Given the description of an element on the screen output the (x, y) to click on. 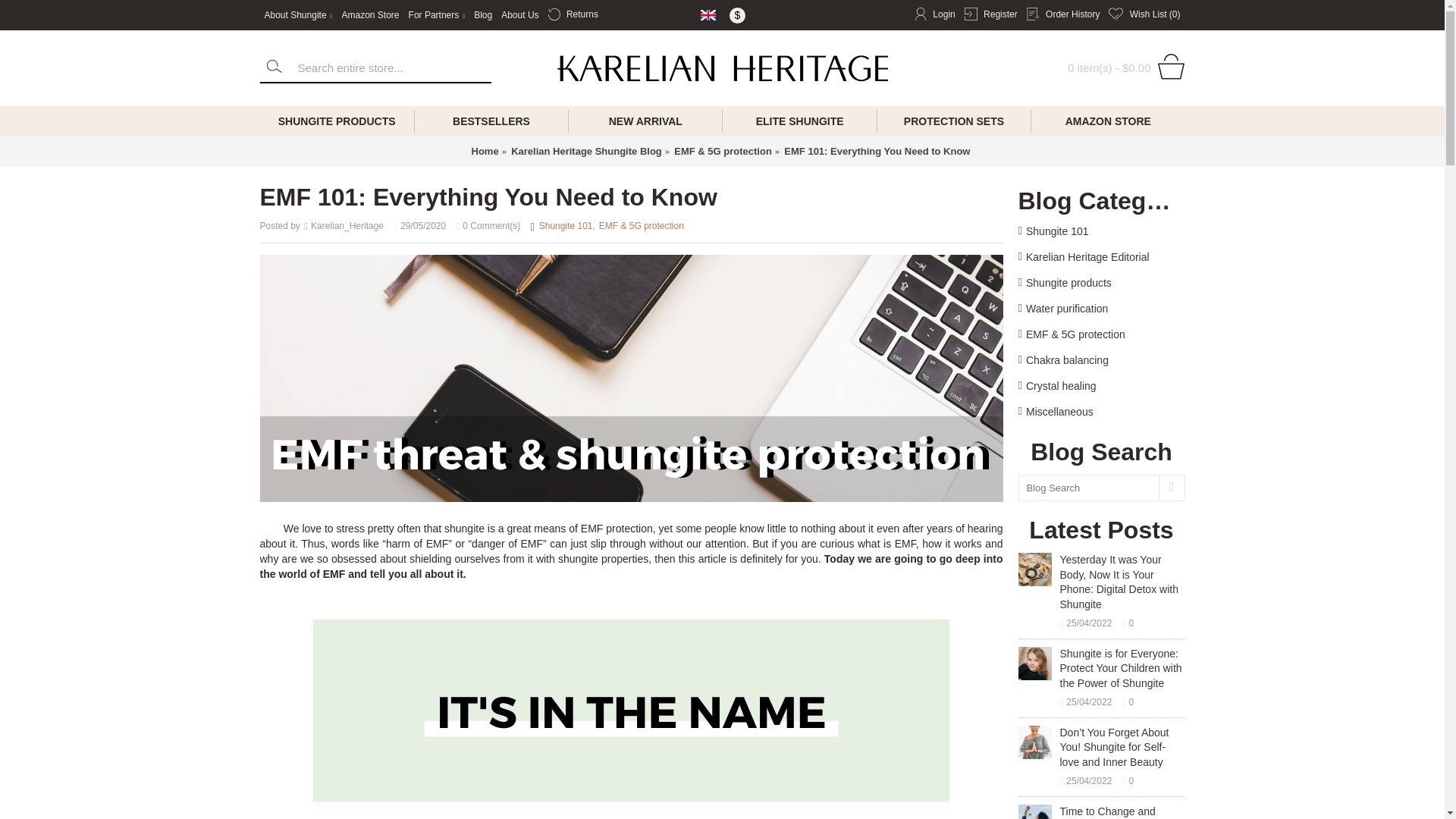
karelianheritage (722, 67)
Returns (572, 15)
About Us (519, 15)
Blog (482, 15)
SHUNGITE PRODUCTS (336, 120)
Amazon Store (369, 15)
Order History (1063, 15)
Register (990, 15)
Login (935, 15)
